Given the description of an element on the screen output the (x, y) to click on. 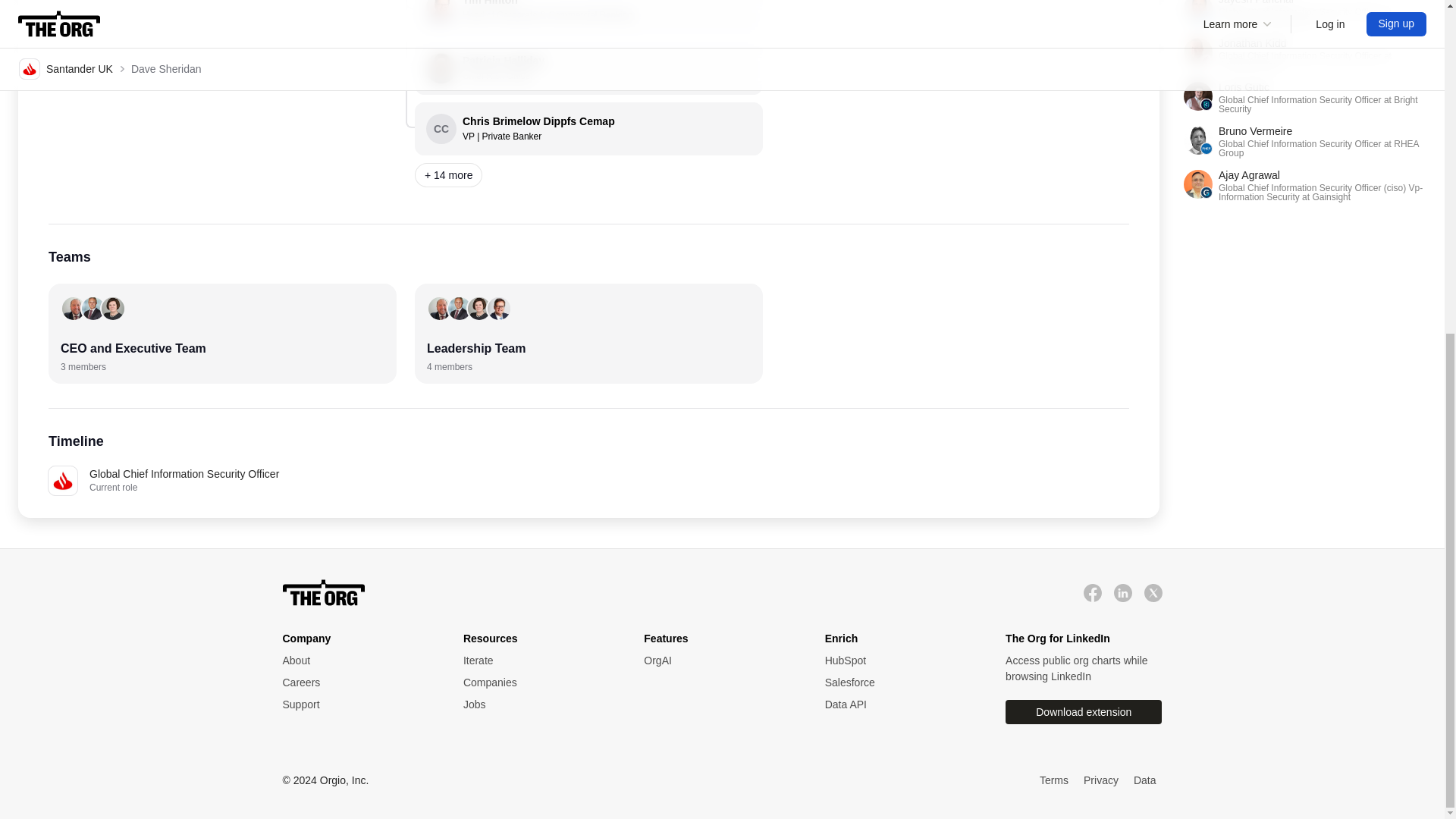
Iterate (537, 660)
OrgAI (222, 333)
HubSpot (718, 660)
Support (900, 660)
Careers (357, 704)
HubSpot (357, 682)
Jobs (900, 660)
Companies (537, 704)
Iterate (537, 682)
LinkedIn (537, 660)
OrgAI (1122, 592)
